Given the description of an element on the screen output the (x, y) to click on. 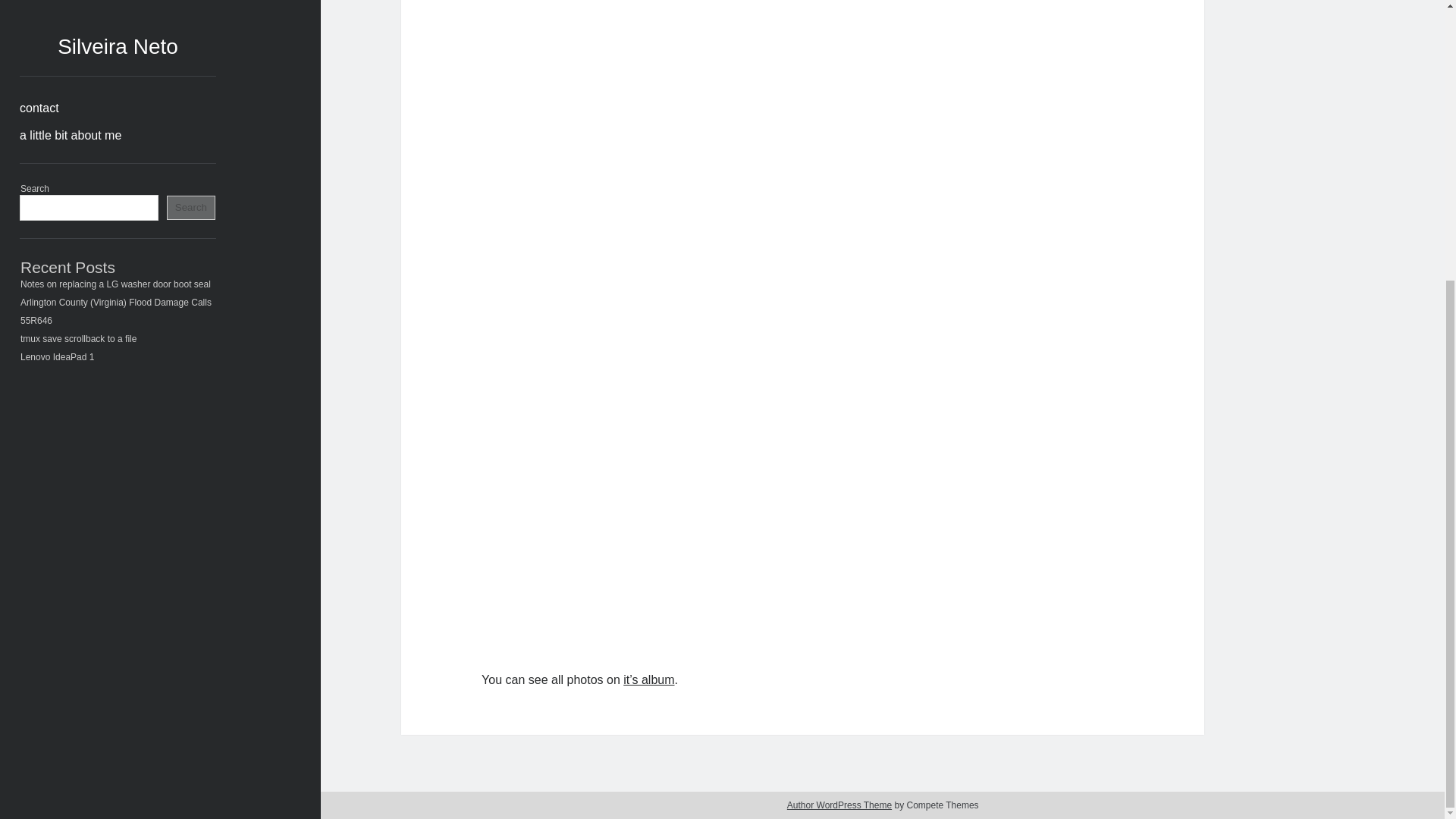
Author WordPress Theme (839, 805)
